Given the description of an element on the screen output the (x, y) to click on. 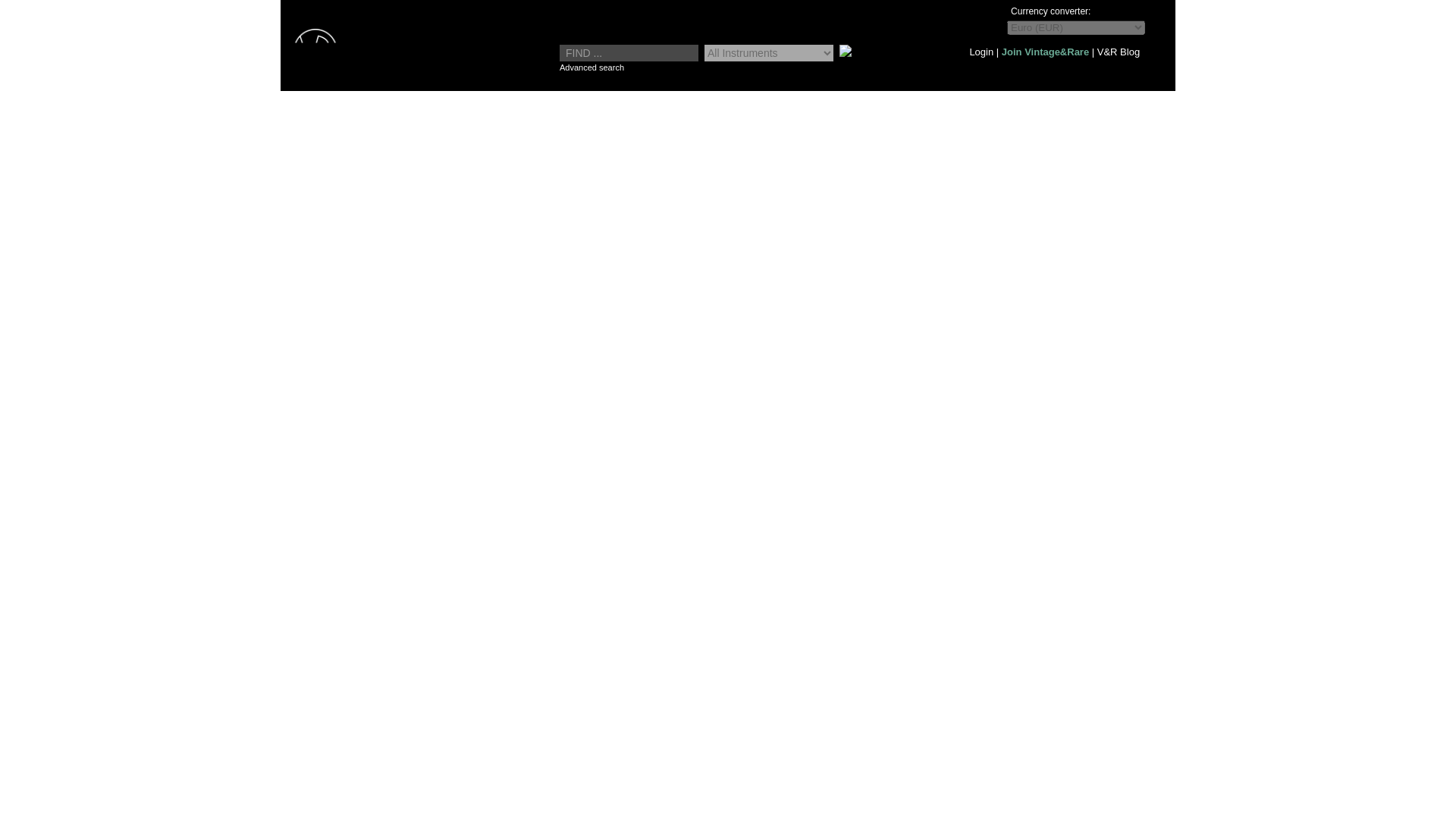
Login (980, 51)
FIND ... (628, 53)
Login (980, 51)
Advanced search (591, 67)
